Given the description of an element on the screen output the (x, y) to click on. 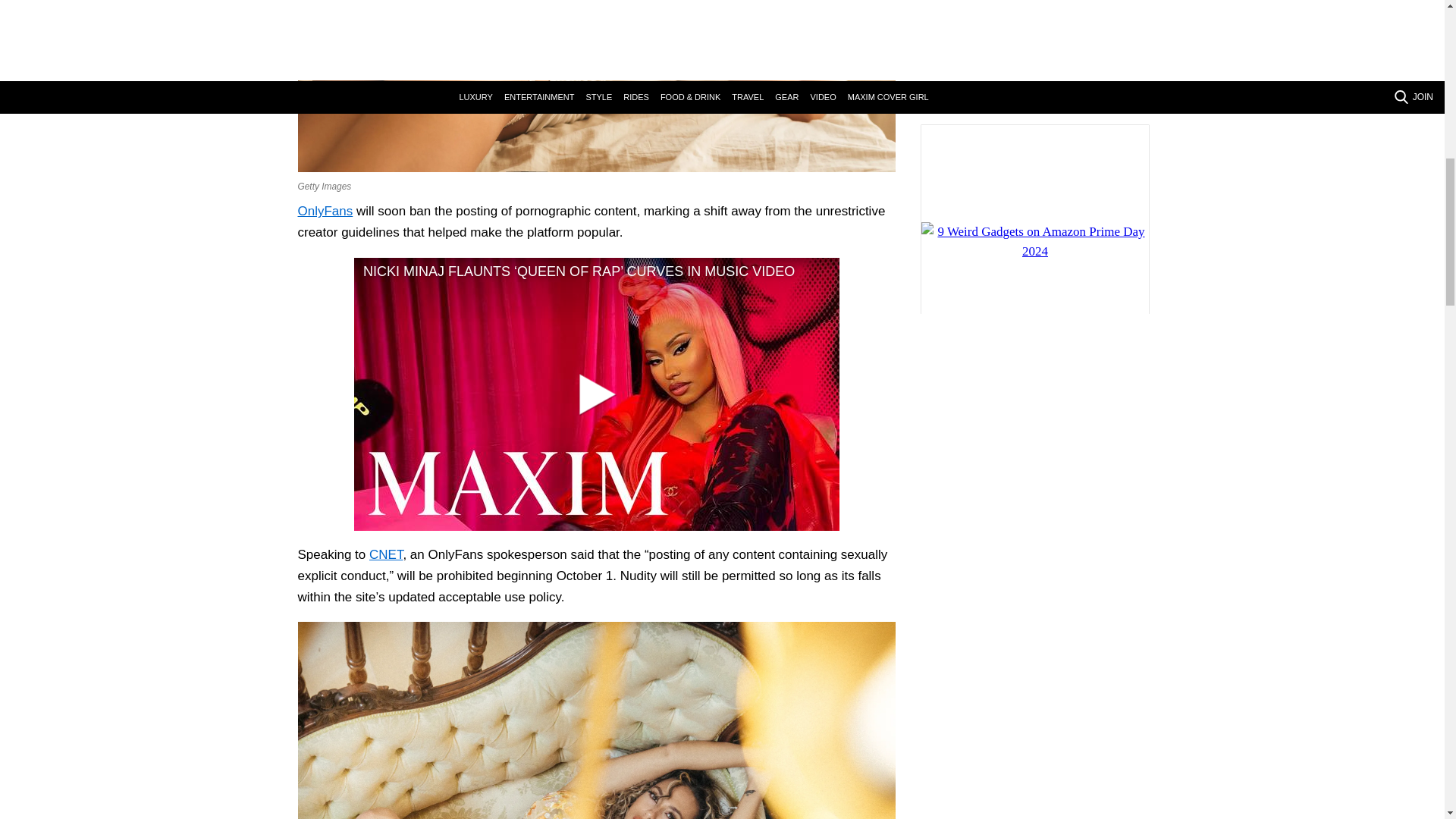
Tinder (596, 85)
